Given the description of an element on the screen output the (x, y) to click on. 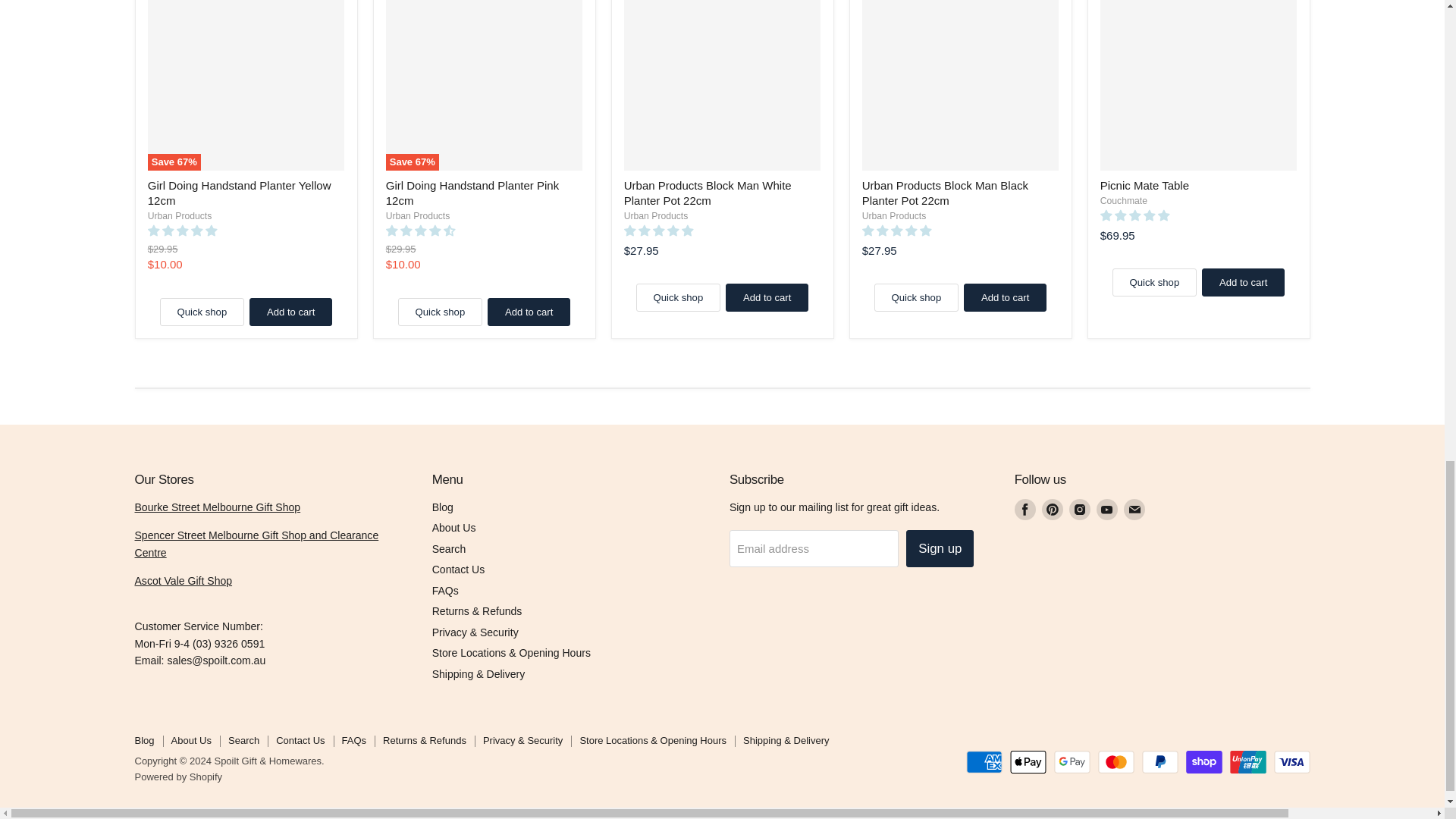
Mastercard (1115, 762)
American Express (984, 762)
Apple Pay (1028, 762)
Google Pay (1072, 762)
